Given the description of an element on the screen output the (x, y) to click on. 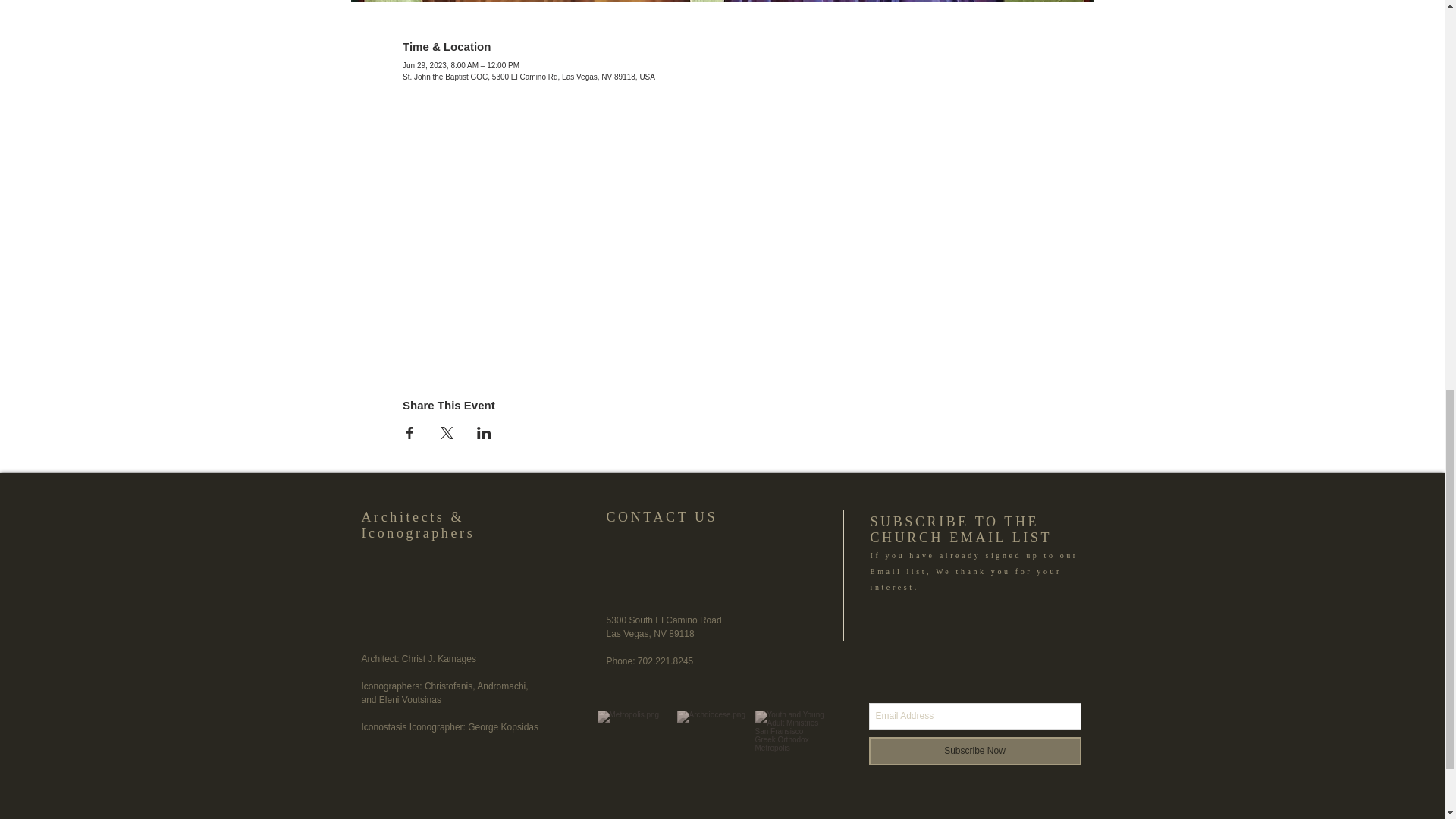
Subscribe Now (975, 750)
